Given the description of an element on the screen output the (x, y) to click on. 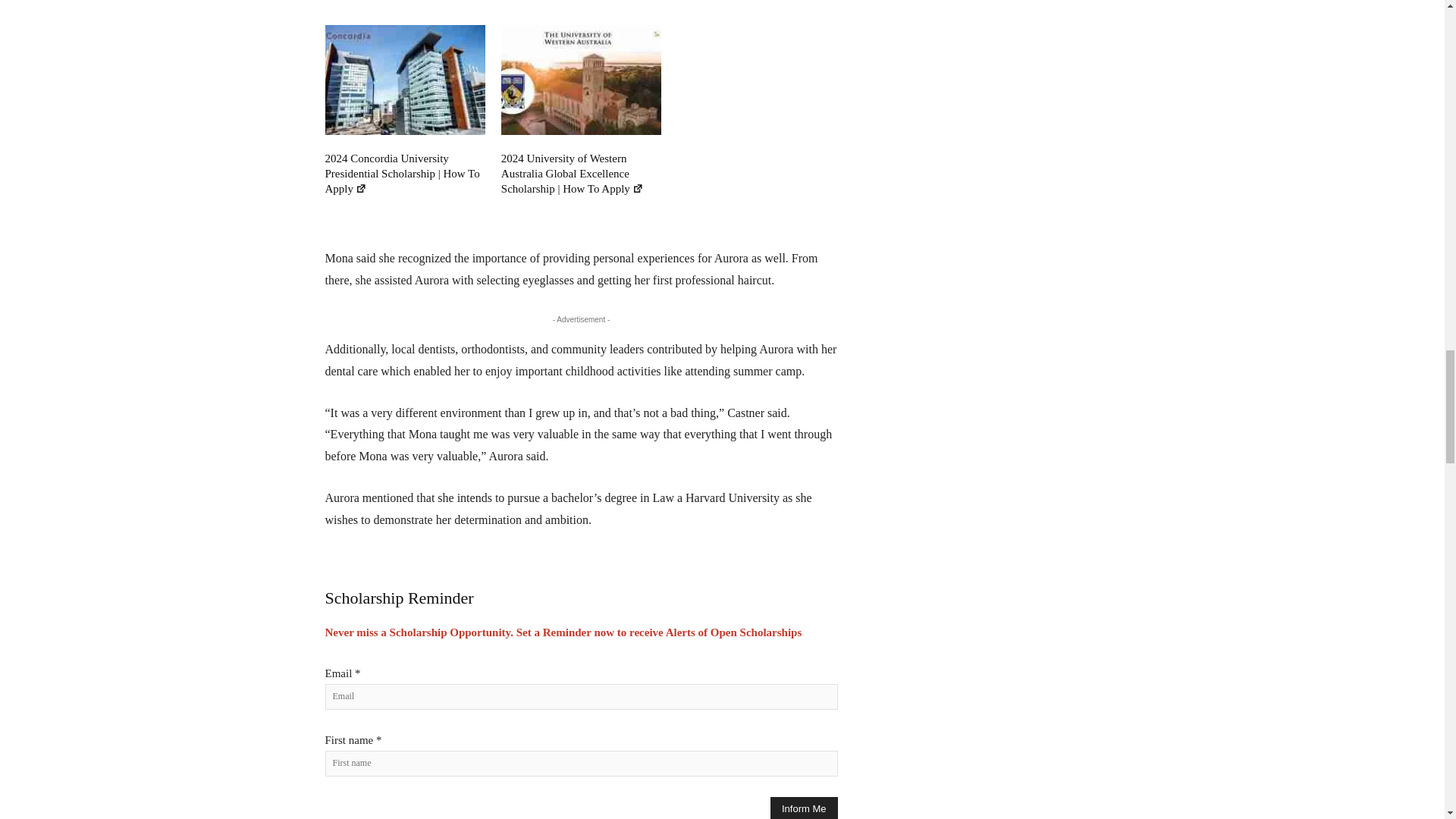
Inform Me (804, 807)
